Given the description of an element on the screen output the (x, y) to click on. 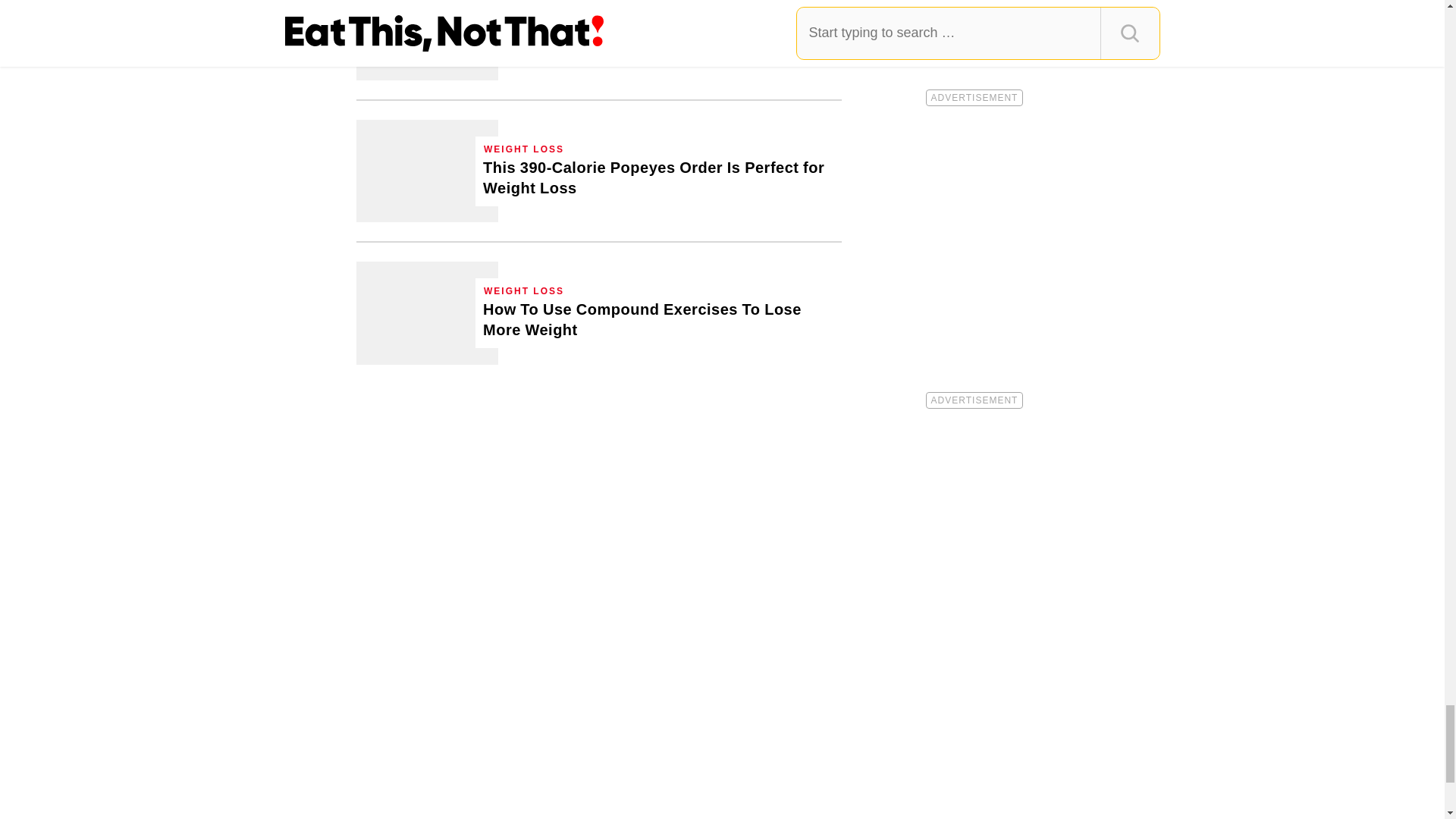
How To Use Compound Exercises To Lose More Weight (426, 312)
How To Use Compound Exercises To Lose More Weight (658, 319)
This 390-Calorie Popeyes Order Is Perfect for Weight Loss (426, 170)
This 390-Calorie Popeyes Order Is Perfect for Weight Loss (658, 178)
